Given the description of an element on the screen output the (x, y) to click on. 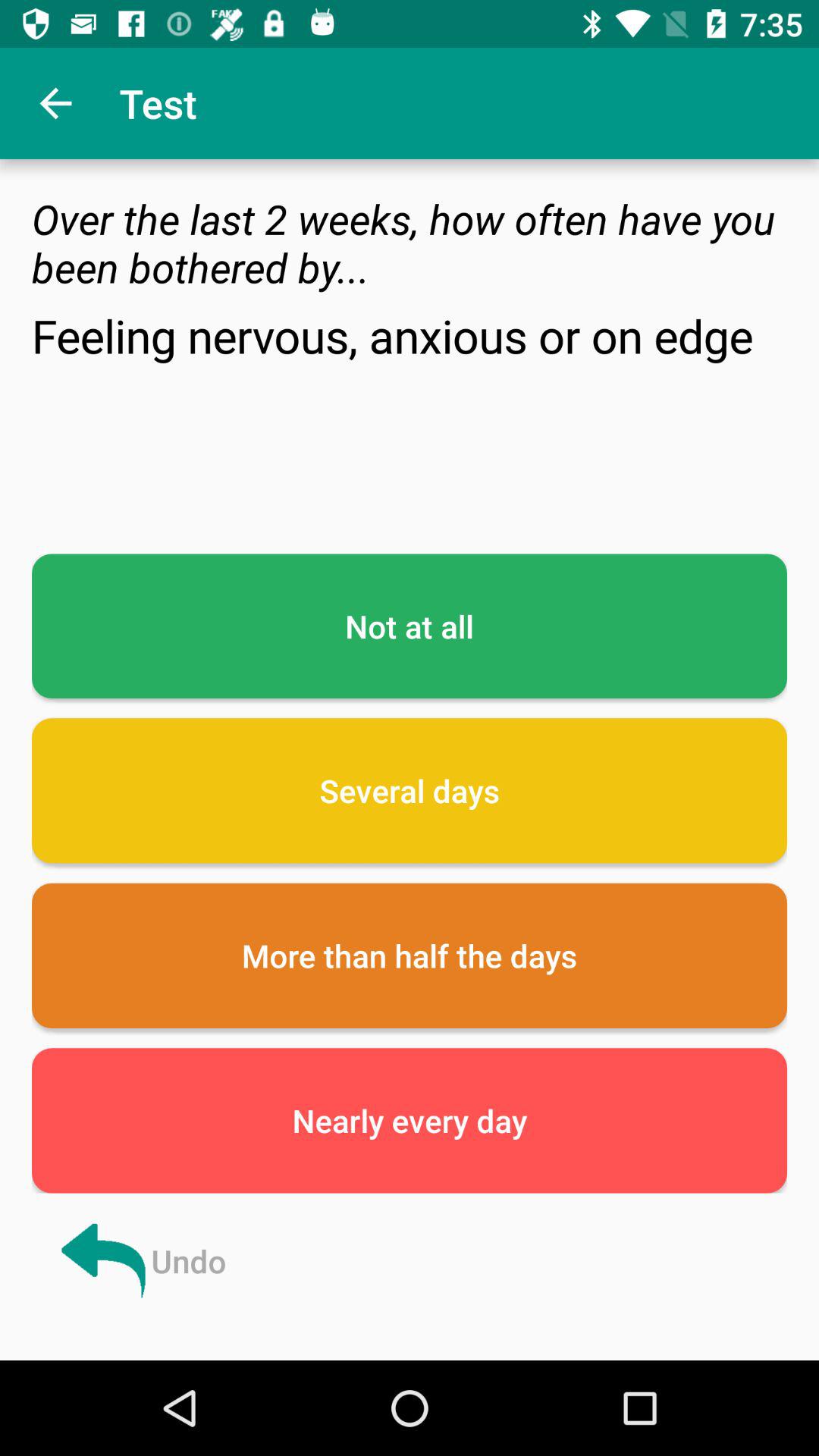
turn on item above undo item (409, 1120)
